Given the description of an element on the screen output the (x, y) to click on. 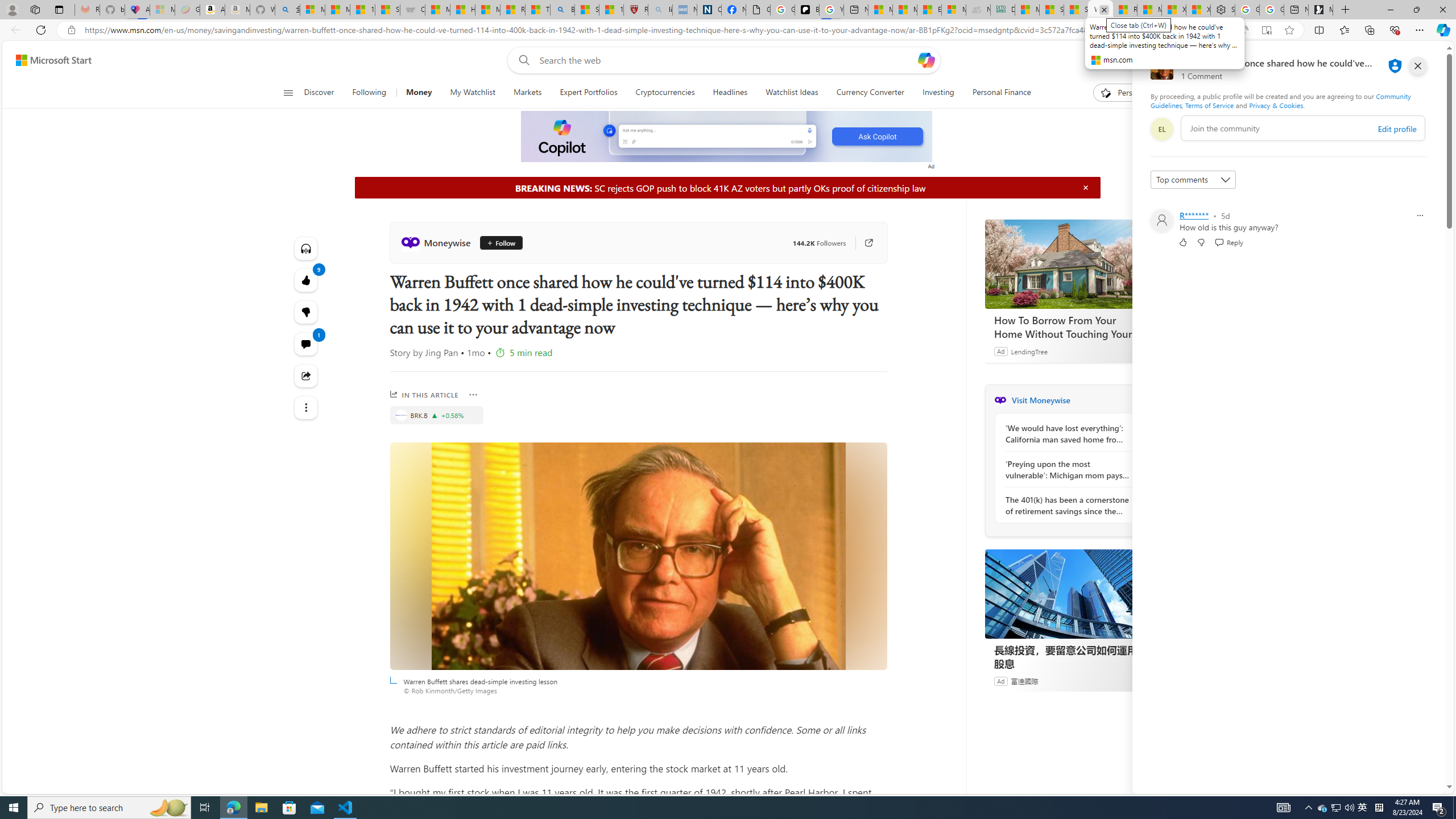
9 Like (305, 279)
Class: at-item (305, 407)
Community Guidelines (1280, 100)
Markets (526, 92)
Investing (937, 92)
